Given the description of an element on the screen output the (x, y) to click on. 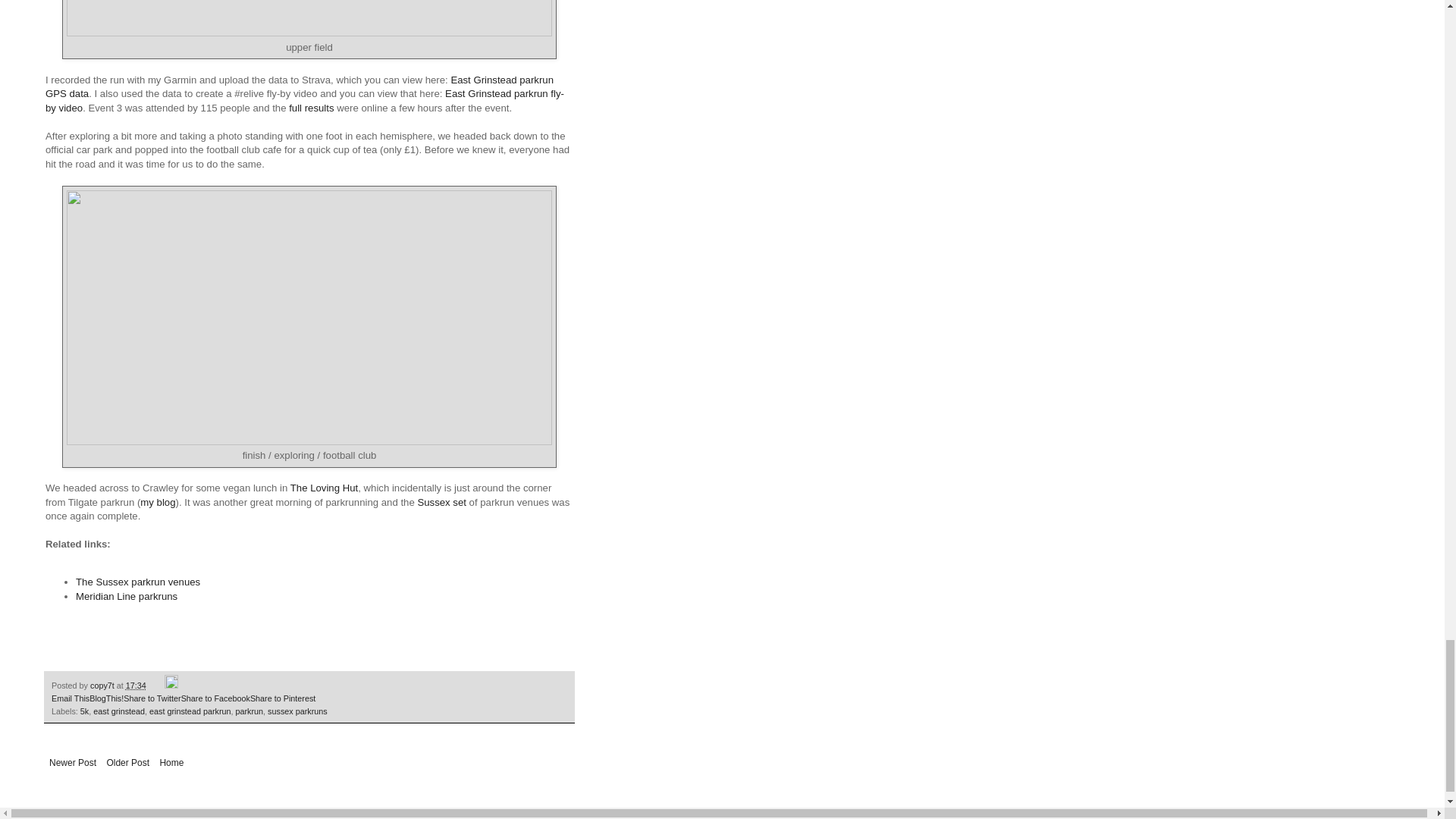
Older Post (126, 762)
The Sussex parkrun venues (137, 582)
East Grinstead parkrun GPS data (299, 86)
author profile (103, 685)
Sussex set (440, 501)
full results (310, 107)
Newer Post (72, 762)
The Loving Hut (323, 487)
East Grinstead parkrun fly-by video (304, 100)
Share to Twitter (151, 697)
